Given the description of an element on the screen output the (x, y) to click on. 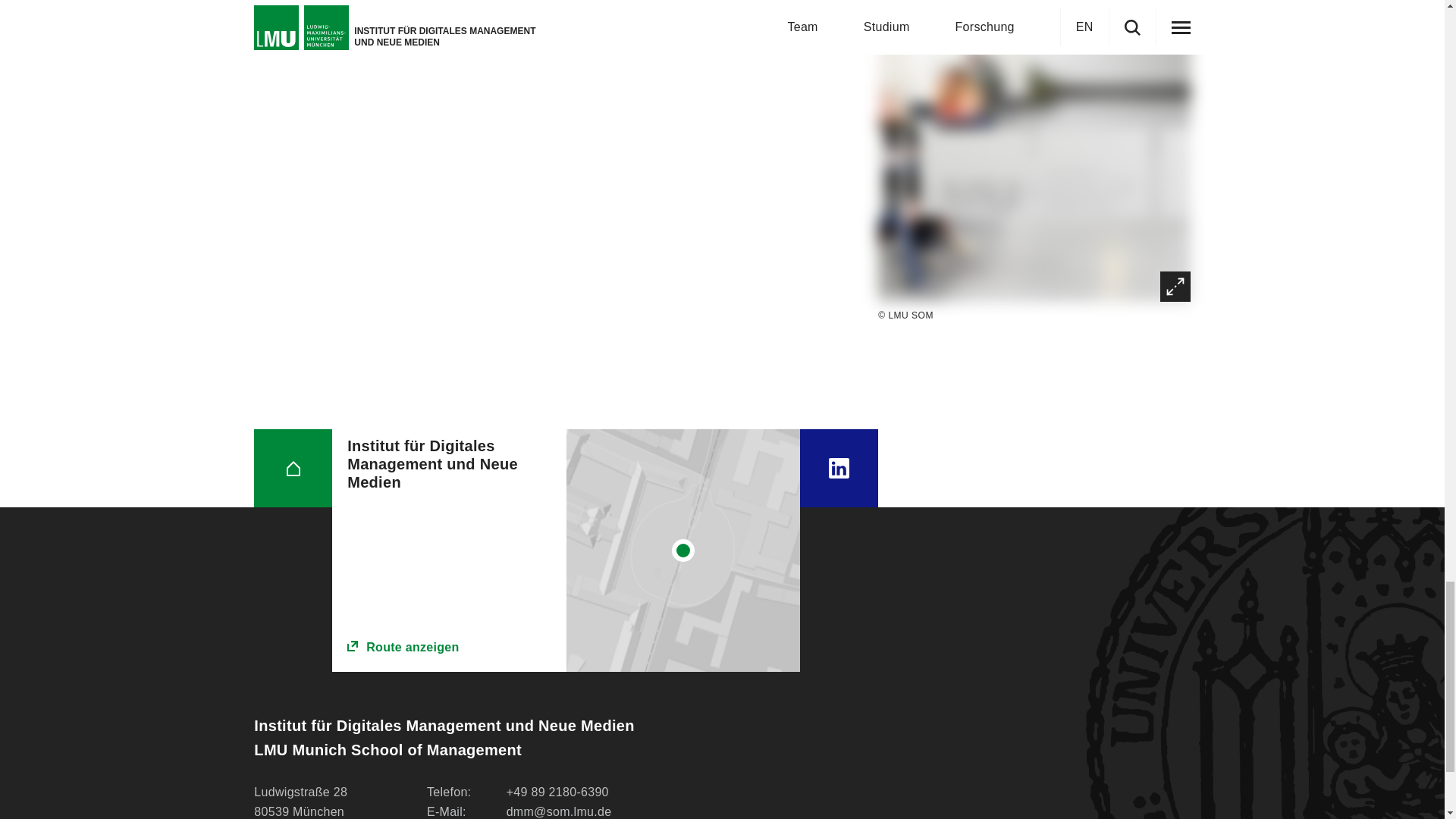
LSF (408, 2)
Moodle (418, 38)
Startseite (292, 467)
Route anzeigen (449, 647)
